Given the description of an element on the screen output the (x, y) to click on. 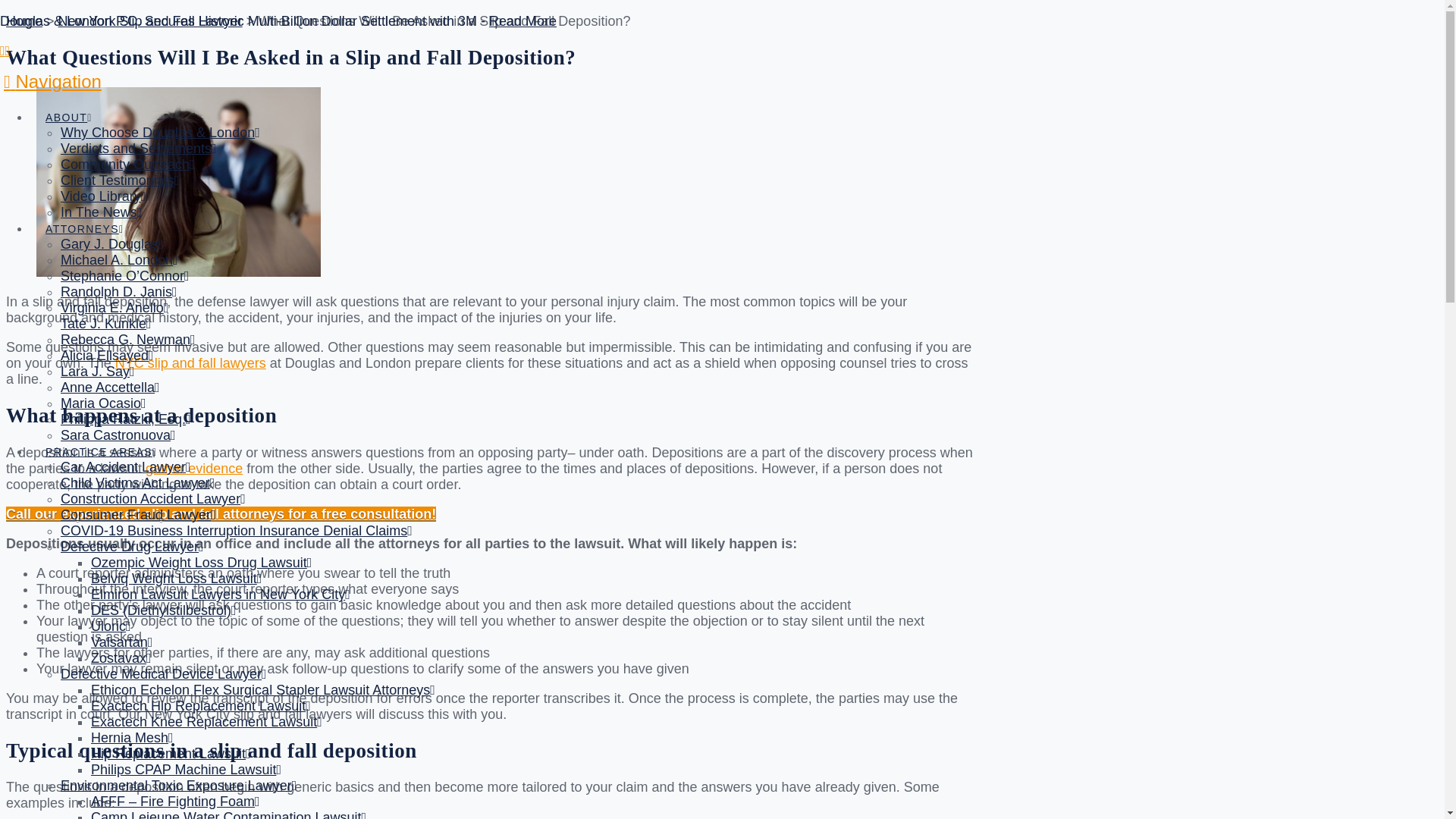
Navigation (52, 81)
Child Victims Act Lawyer (137, 482)
Facebook (2, 50)
Anne Accettella (110, 387)
ABOUT (68, 102)
Tate J. Kunkle (106, 323)
Community Outreach (128, 164)
Ozempic Weight Loss Drug Lawsuit (200, 562)
Gary J. Douglas (112, 243)
COVID-19 Business Interruption Insurance Denial Claims (236, 530)
Michael A. London (119, 259)
PRACTICE AREAS (100, 436)
Belviq Weight Loss Lawsuit (176, 578)
Construction Accident Lawyer (153, 498)
Rebecca G. Newman (128, 339)
